Given the description of an element on the screen output the (x, y) to click on. 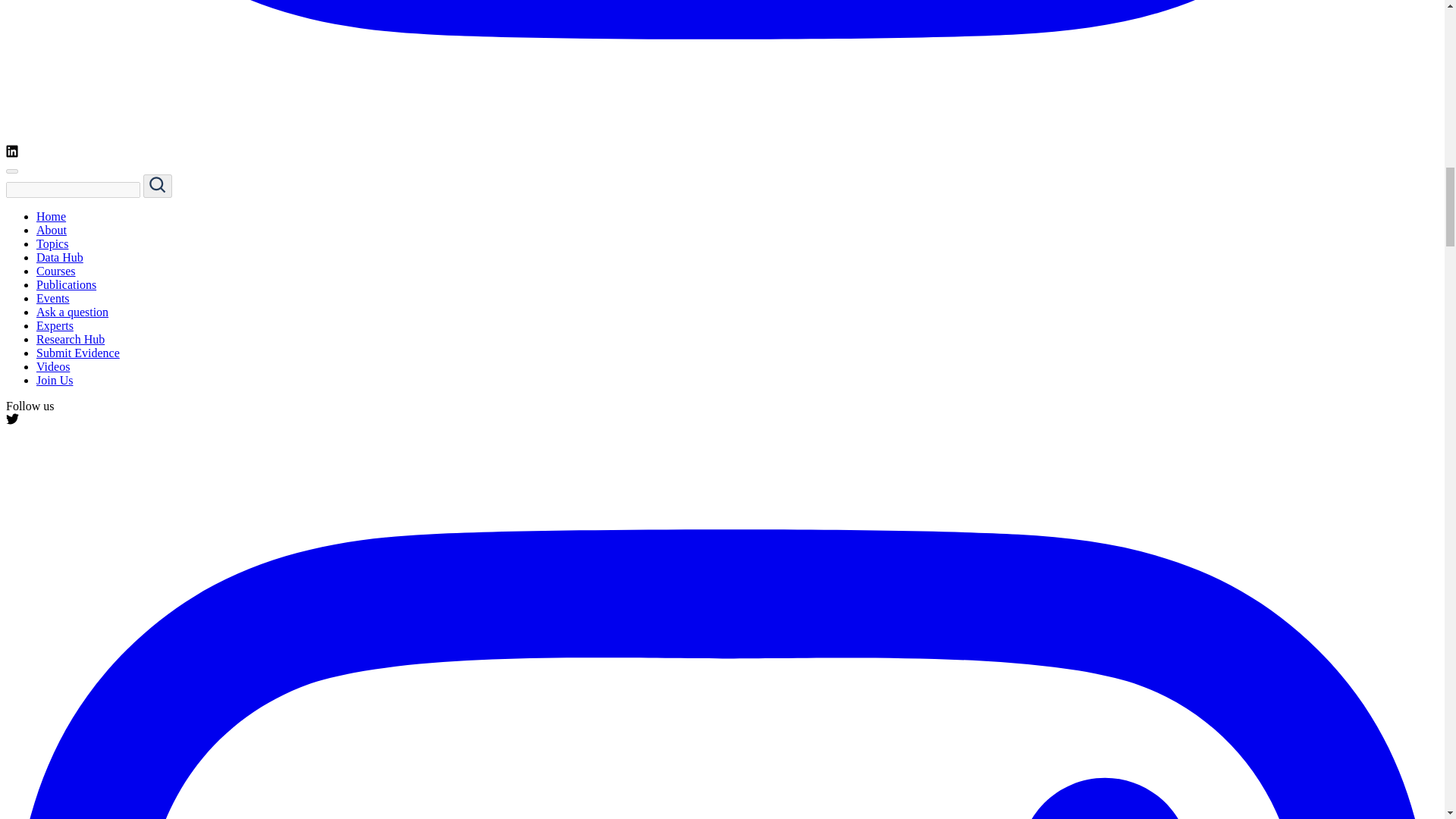
Events (52, 297)
Publications (66, 284)
Topics (52, 243)
Data Hub (59, 256)
Videos (52, 366)
Research Hub (70, 338)
Submit Evidence (77, 352)
Ask a question (71, 311)
Home (50, 215)
Courses (55, 270)
